Given the description of an element on the screen output the (x, y) to click on. 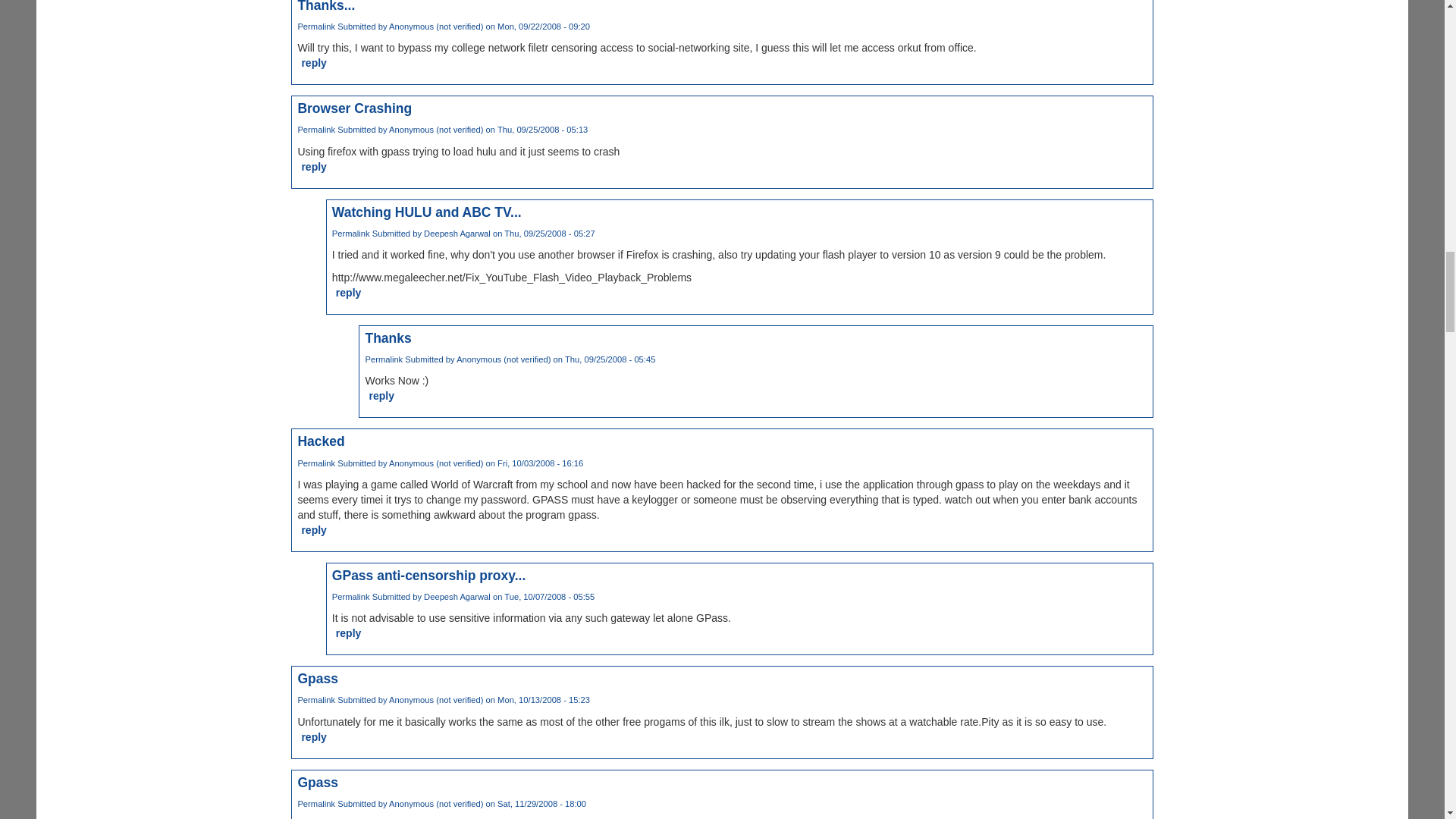
View user profile. (456, 233)
